Given the description of an element on the screen output the (x, y) to click on. 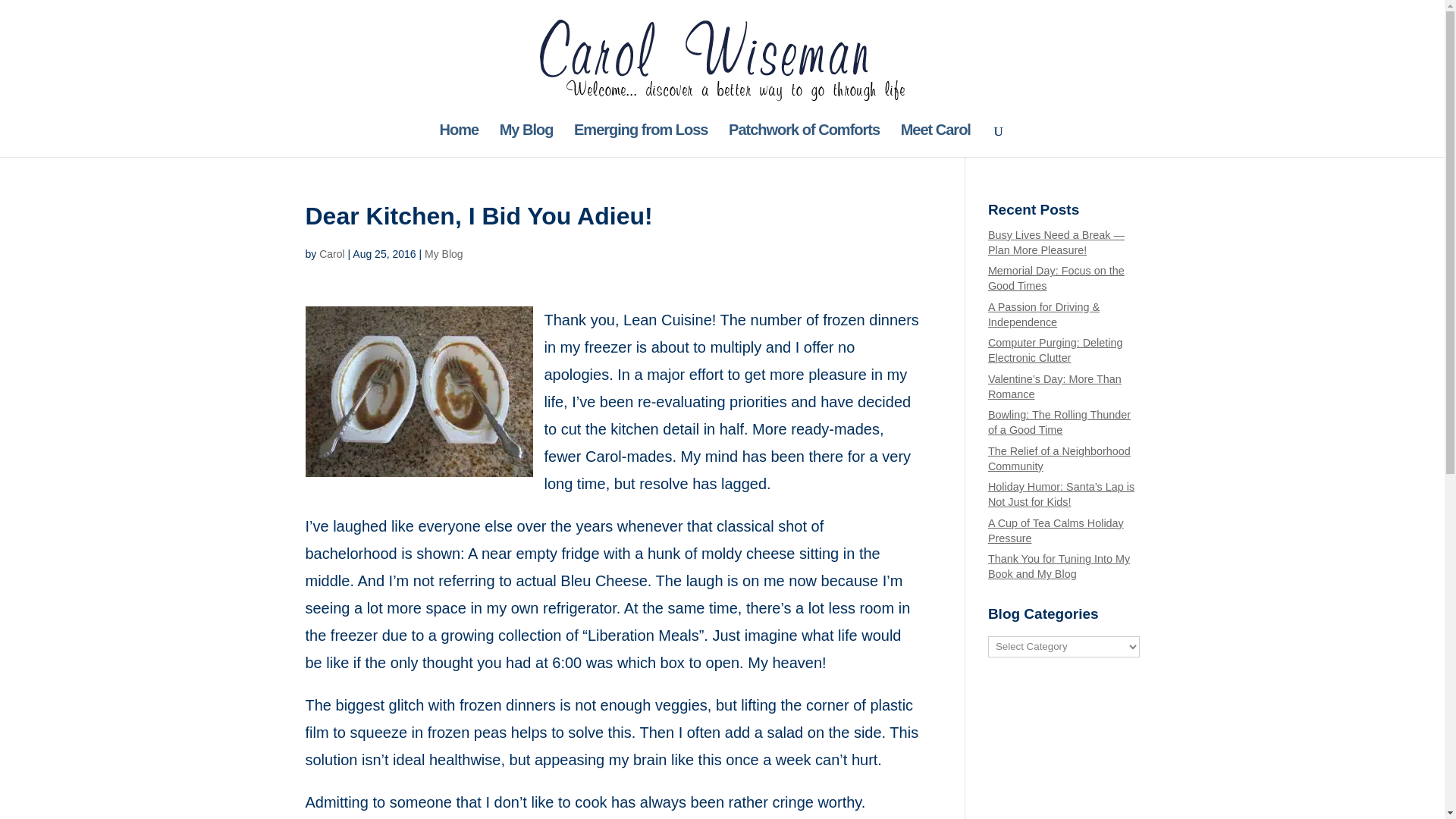
Patchwork of Comforts (804, 140)
Emerging from Loss (640, 140)
Meet Carol (936, 140)
Posts by Carol (330, 254)
My Blog (526, 140)
My Blog (444, 254)
Memorial Day: Focus on the Good Times (1056, 277)
Home (459, 140)
The Relief of a Neighborhood Community (1059, 458)
Dear Kitchen, I Bid You Adieu! 1 (418, 391)
Carol (330, 254)
Computer Purging: Deleting Electronic Clutter (1055, 349)
A Cup of Tea Calms Holiday Pressure (1056, 530)
Bowling: The Rolling Thunder of a Good Time (1059, 421)
Thank You for Tuning Into My Book and My Blog (1058, 565)
